Given the description of an element on the screen output the (x, y) to click on. 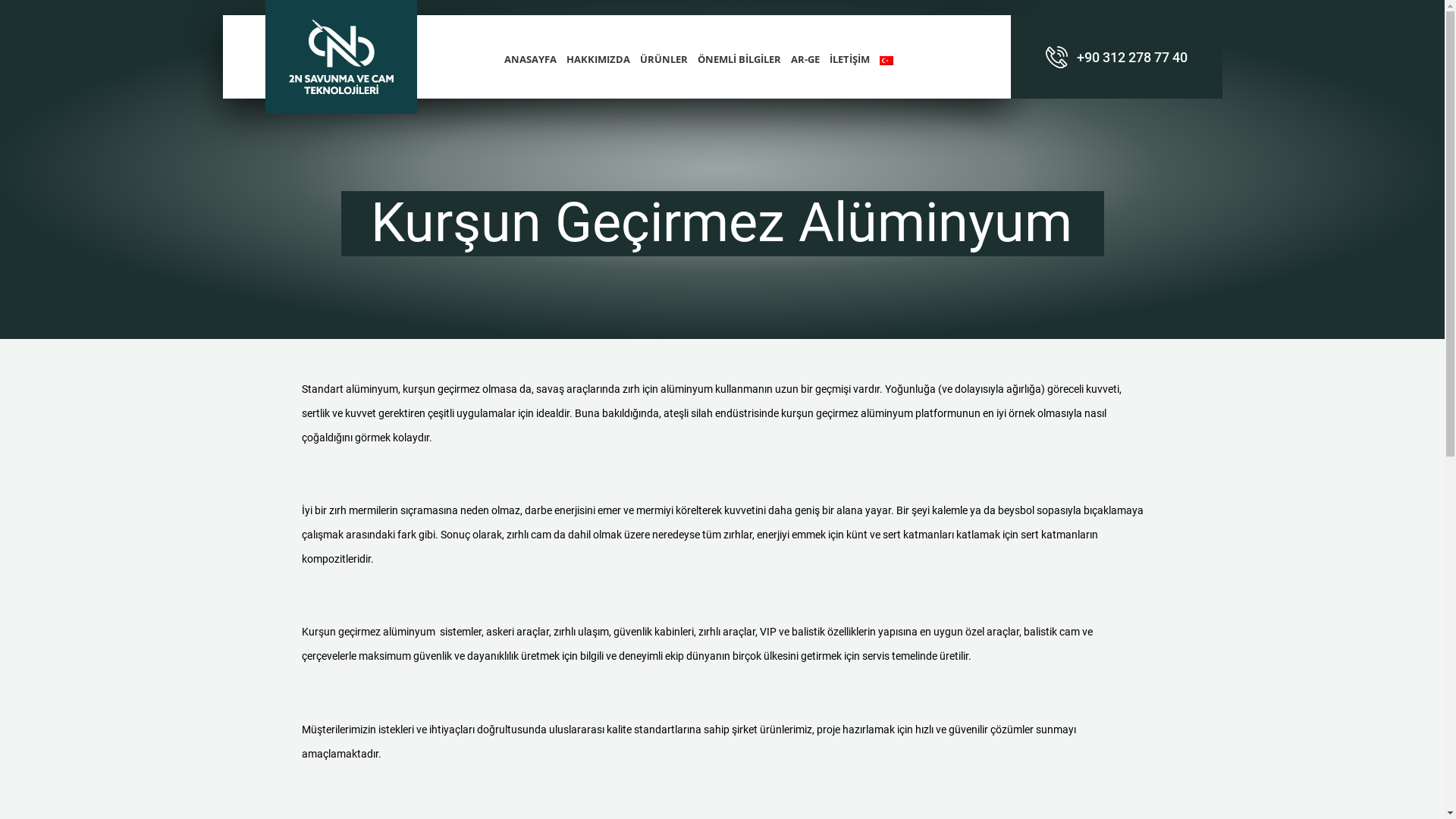
ANASAYFA Element type: text (530, 58)
HAKKIMIZDA Element type: text (598, 58)
AR-GE Element type: text (804, 58)
